Given the description of an element on the screen output the (x, y) to click on. 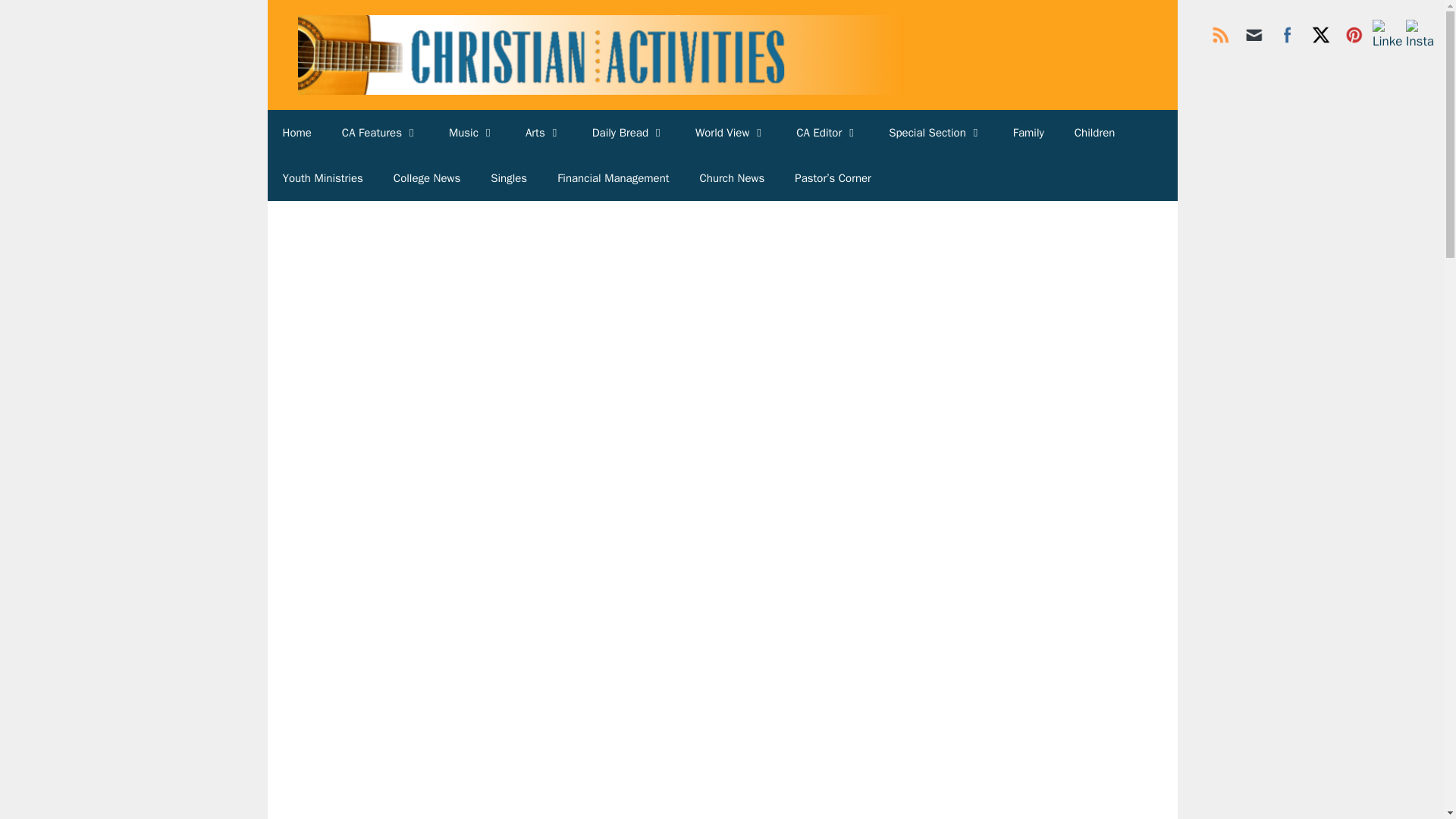
Music (472, 132)
Youth Ministries (321, 177)
CA Features (379, 132)
College News (427, 177)
CA Editor (826, 132)
Singles (508, 177)
Special Section (935, 132)
World View (729, 132)
RSS (1220, 34)
Home (296, 132)
